Given the description of an element on the screen output the (x, y) to click on. 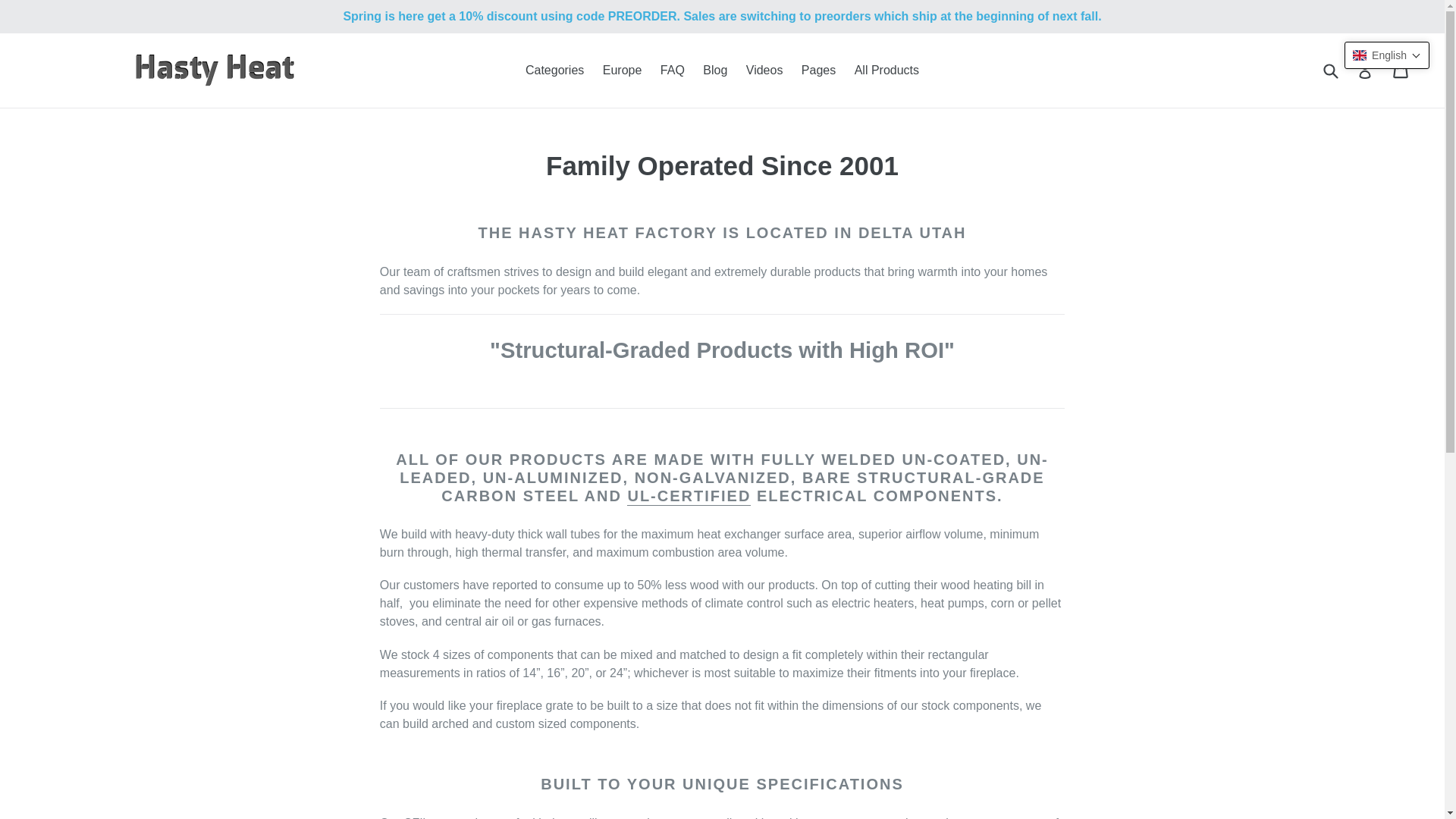
All Products (886, 69)
Europe (622, 69)
Pages (818, 69)
Blog (715, 69)
FAQ (672, 69)
UL-CERTIFIED (689, 496)
Categories (554, 69)
Videos (764, 69)
